Given the description of an element on the screen output the (x, y) to click on. 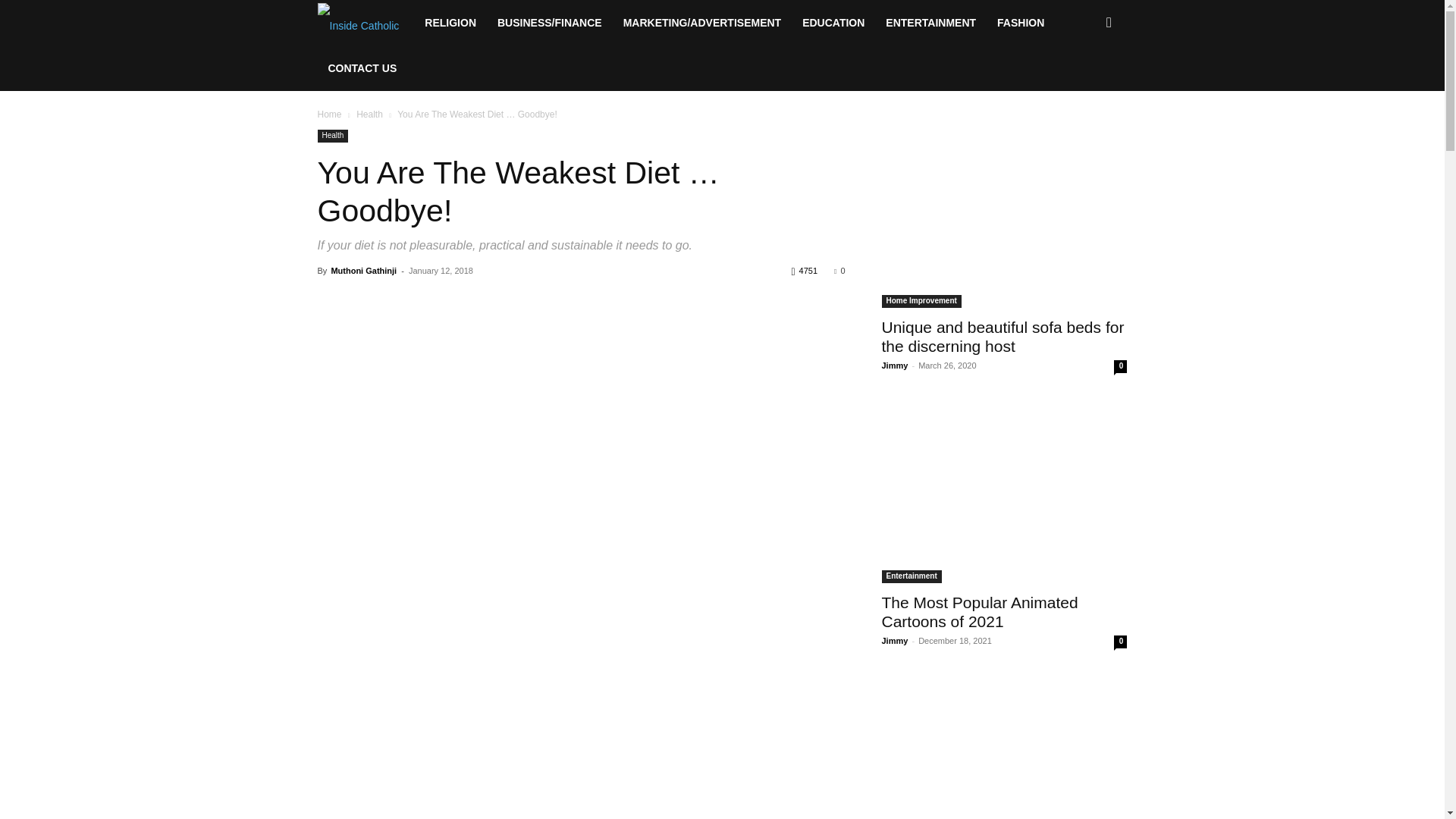
Inside Catholic (357, 22)
Muthoni Gathinji (363, 270)
Search (1085, 87)
Health (332, 135)
View all posts in Health (369, 113)
CONTACT US (362, 67)
Inside Catholic (365, 22)
ENTERTAINMENT (931, 22)
Home (328, 113)
Health (369, 113)
0 (839, 270)
RELIGION (449, 22)
FASHION (1020, 22)
EDUCATION (833, 22)
